Given the description of an element on the screen output the (x, y) to click on. 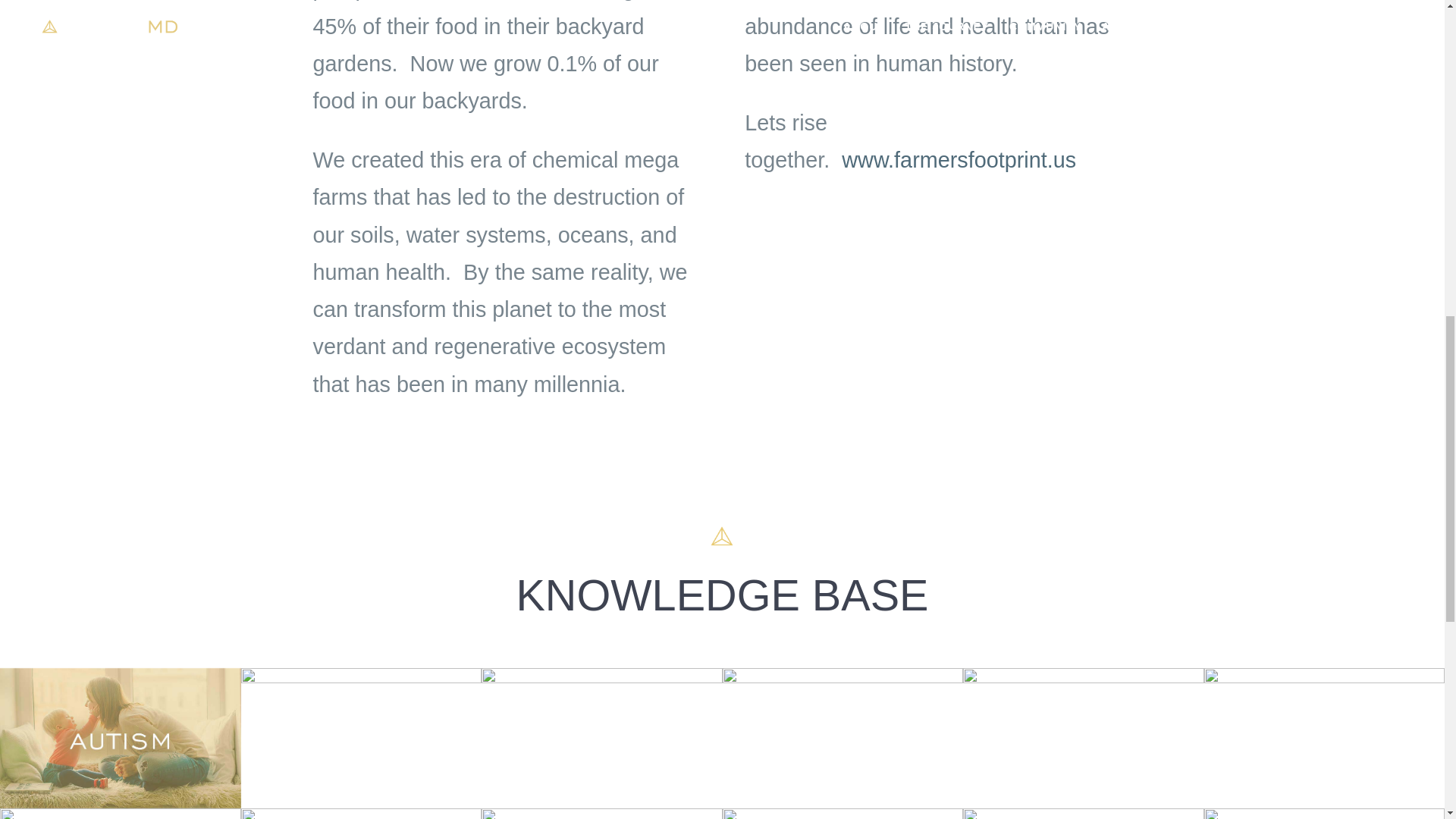
www.farmersfootprint.us (958, 159)
